Given the description of an element on the screen output the (x, y) to click on. 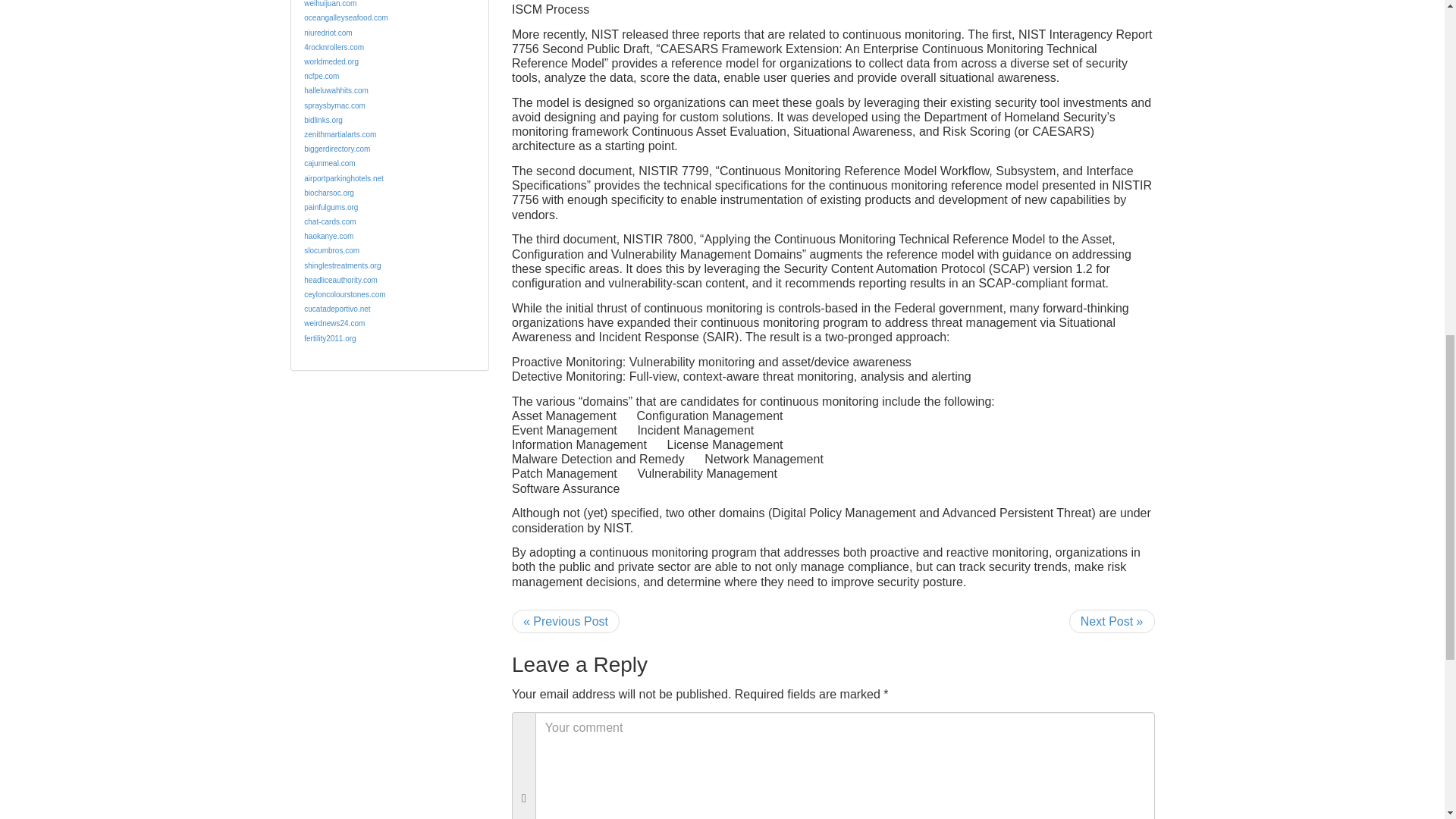
halleluwahhits.com (336, 90)
biggerdirectory.com (336, 148)
painfulgums.org (331, 207)
biocharsoc.org (328, 193)
bidlinks.org (323, 120)
airportparkinghotels.net (344, 178)
oceangalleyseafood.com (346, 17)
ncfpe.com (321, 76)
niuredriot.com (328, 32)
chat-cards.com (329, 221)
spraysbymac.com (334, 105)
shinglestreatments.org (342, 265)
4rocknrollers.com (334, 47)
slocumbros.com (331, 250)
cajunmeal.com (329, 162)
